Given the description of an element on the screen output the (x, y) to click on. 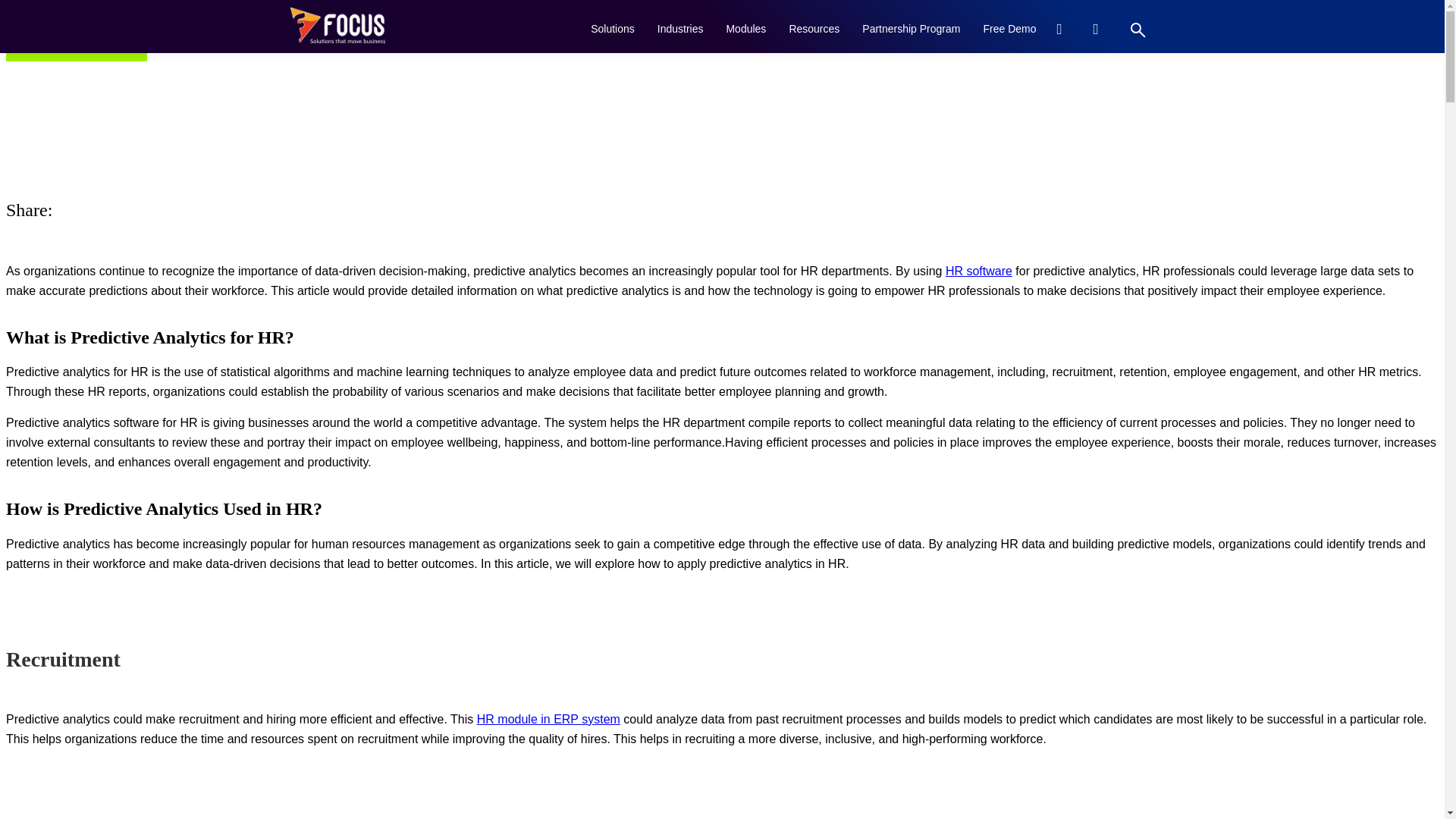
About us (336, 21)
Modules (745, 26)
Solutions (612, 26)
Industries (680, 26)
